Given the description of an element on the screen output the (x, y) to click on. 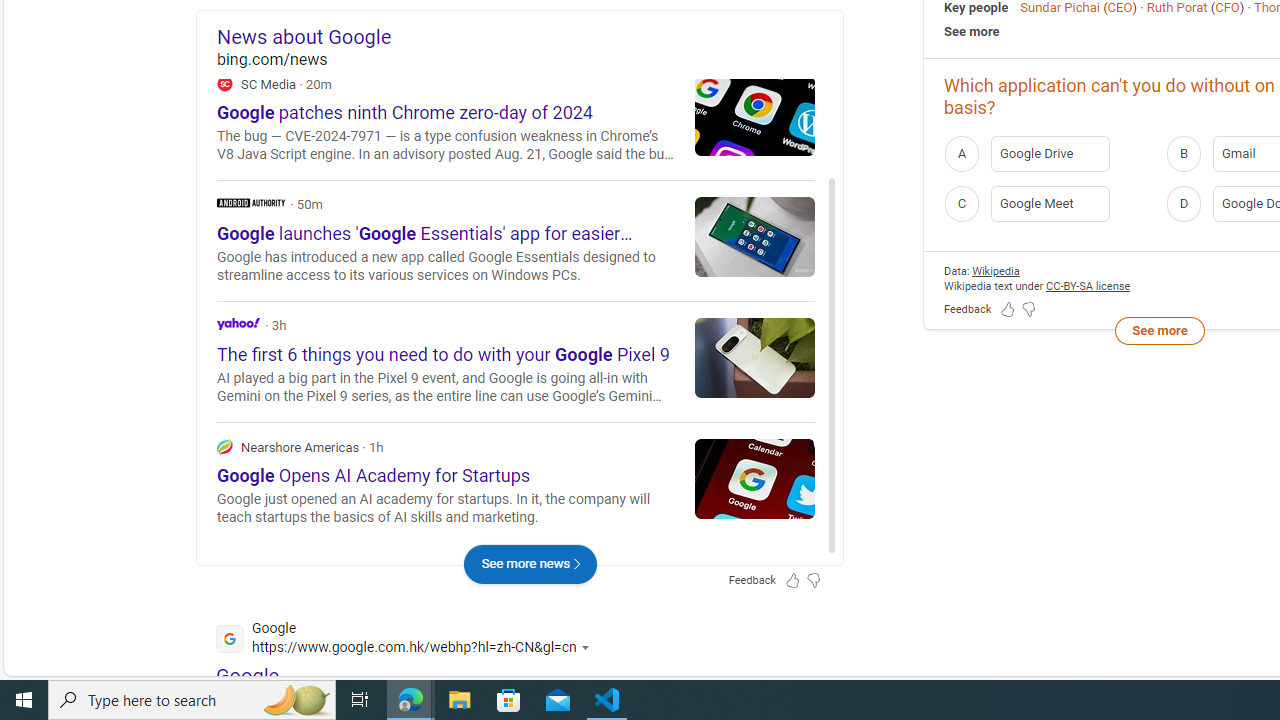
Android Authority (516, 240)
SC Media (224, 83)
CC-BY-SA license (1088, 286)
Nearshore Americas (224, 446)
bing.com/news (530, 59)
Google Opens AI Academy for Startups (755, 478)
Like (695, 129)
See more (1159, 331)
Copy (759, 129)
See more news (530, 563)
The first 6 things you need to do with your Google Pixel 9 (755, 357)
C Google Meet (1049, 203)
